Given the description of an element on the screen output the (x, y) to click on. 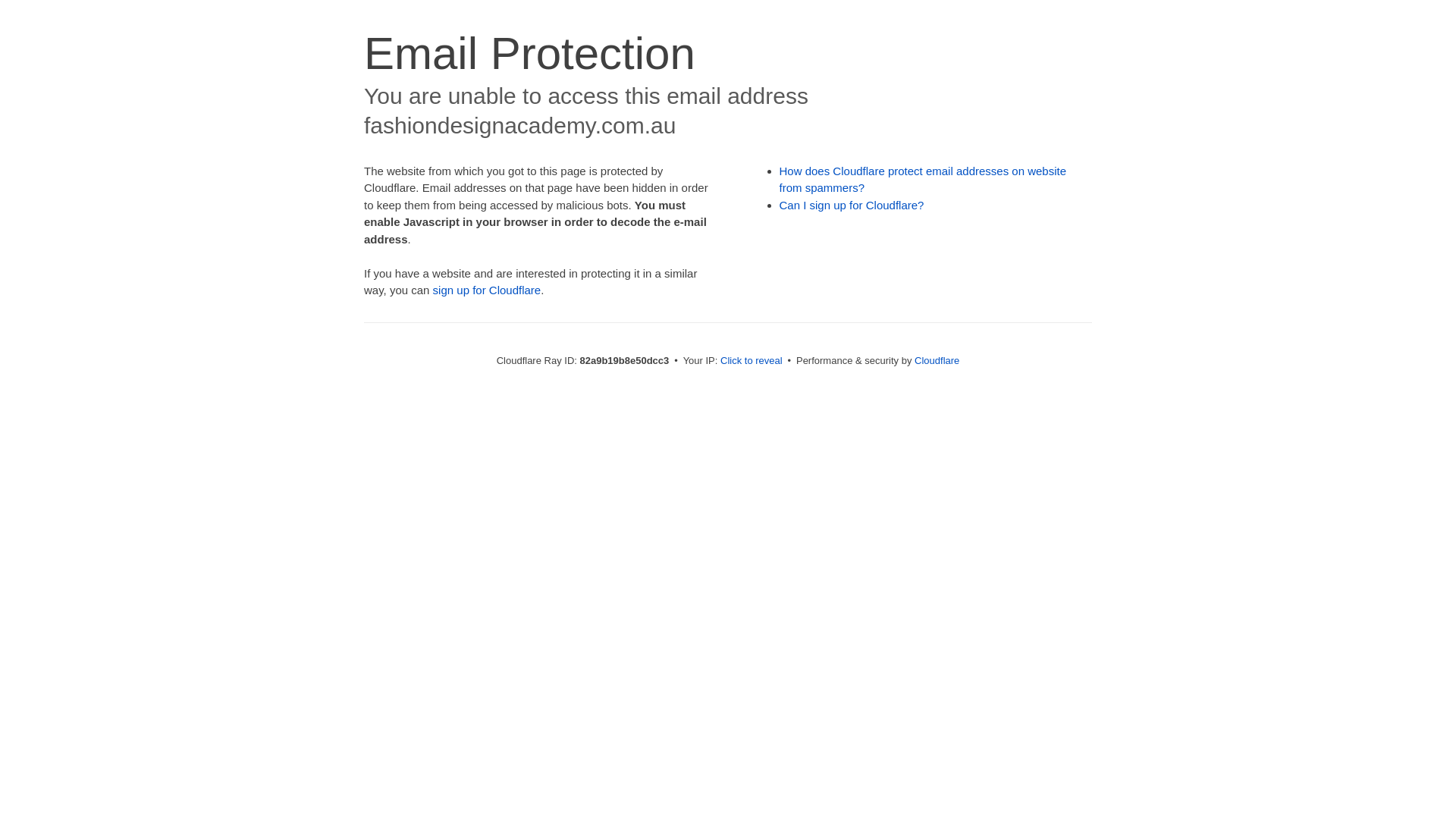
Can I sign up for Cloudflare? Element type: text (851, 204)
Click to reveal Element type: text (751, 360)
Cloudflare Element type: text (936, 360)
sign up for Cloudflare Element type: text (487, 289)
